Given the description of an element on the screen output the (x, y) to click on. 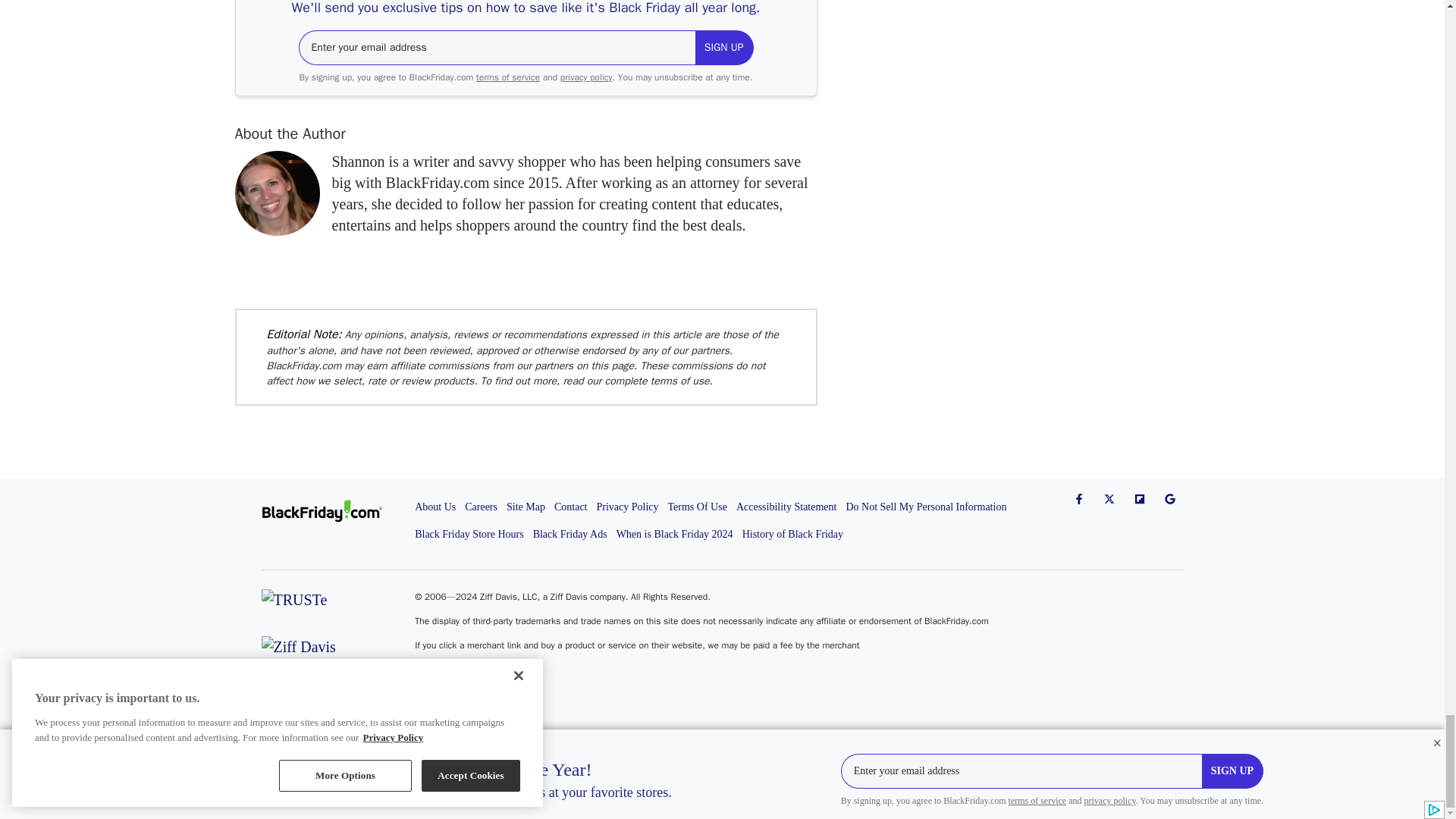
email-name (496, 47)
BlackFriday.com (337, 510)
